Given the description of an element on the screen output the (x, y) to click on. 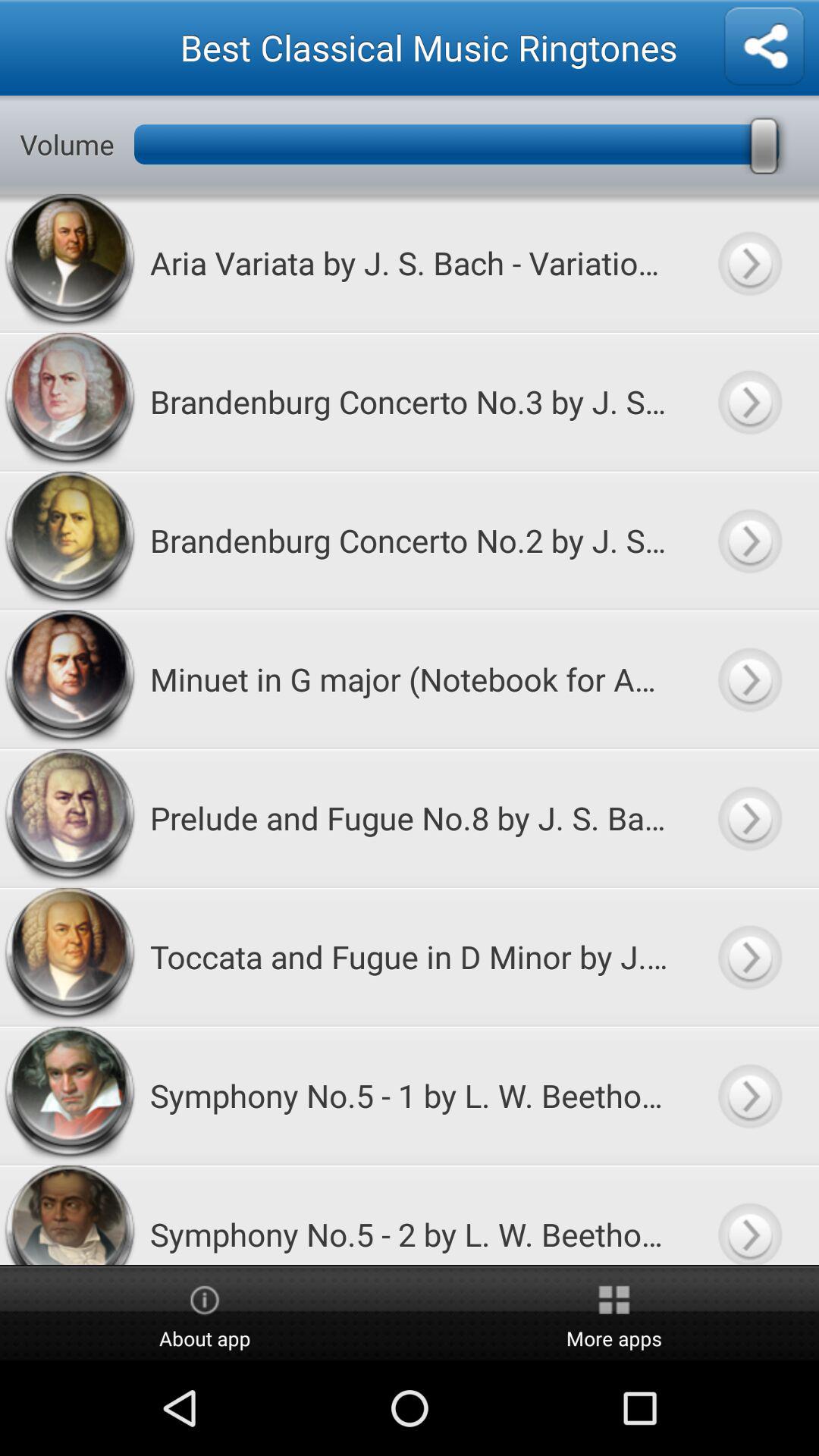
select the song by artist (749, 956)
